Given the description of an element on the screen output the (x, y) to click on. 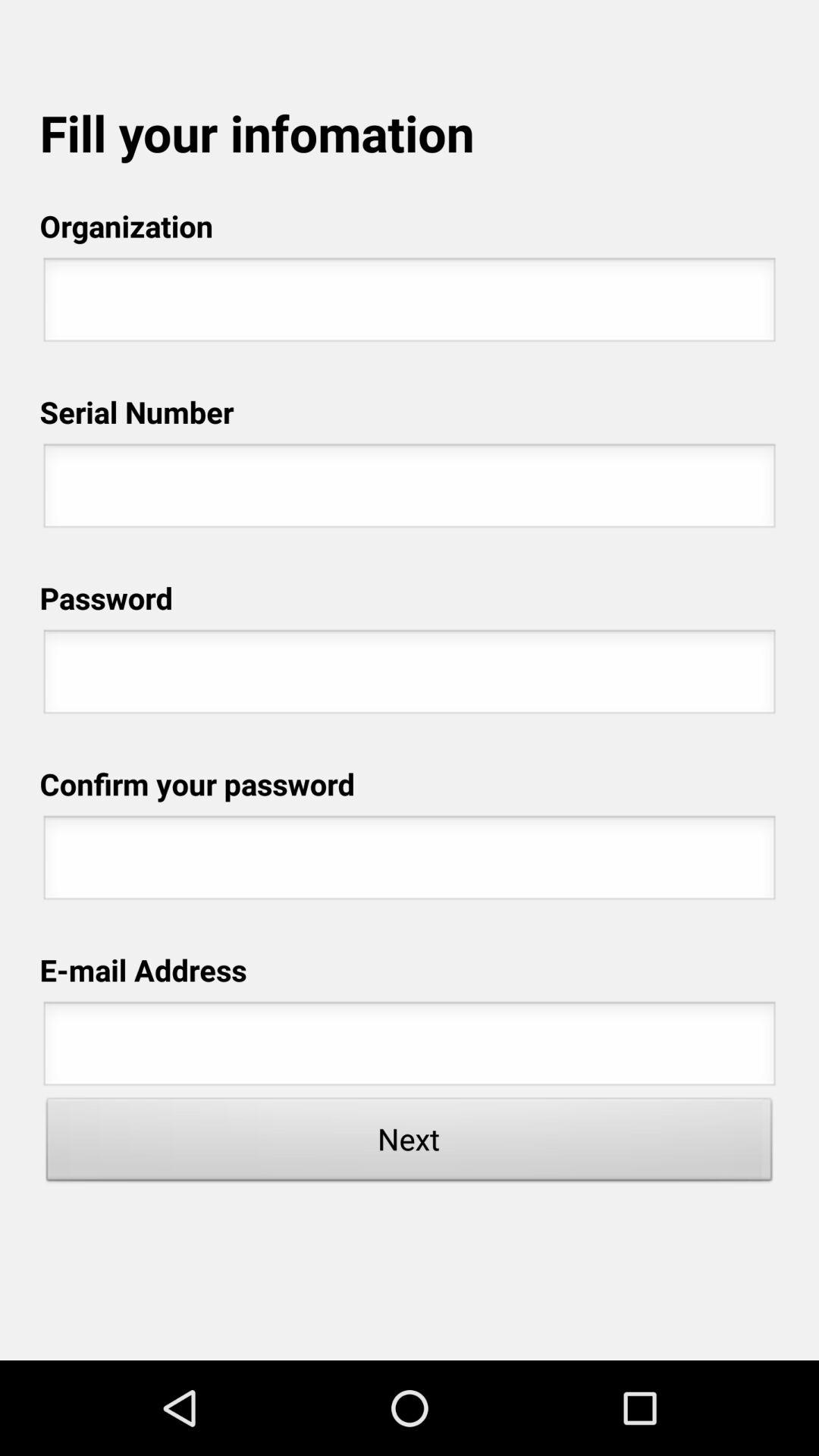
type organization name (409, 304)
